Given the description of an element on the screen output the (x, y) to click on. 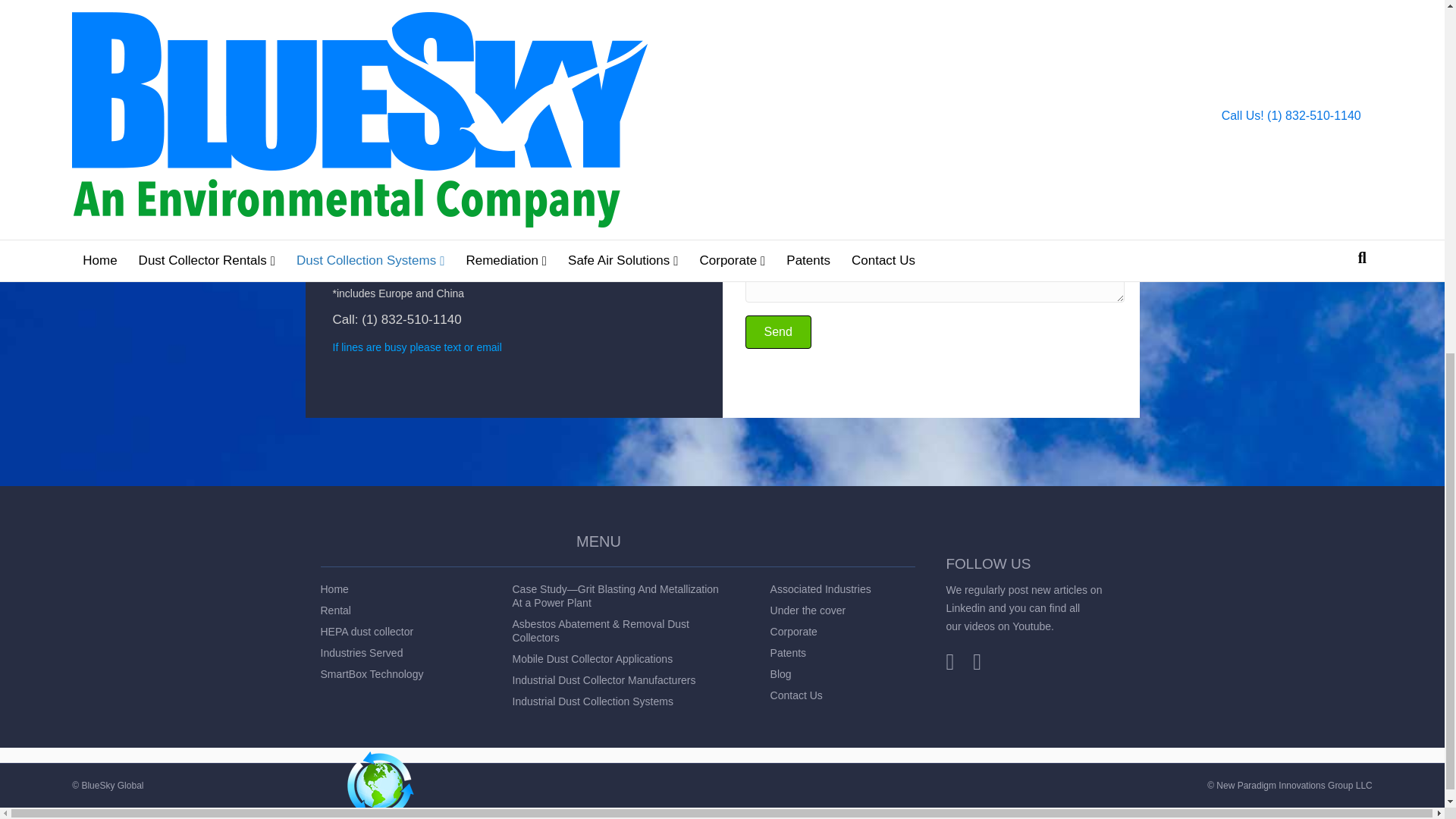
HEPA dust collector (366, 631)
Industries Served (361, 653)
Send (777, 331)
Rental (335, 610)
Home (333, 589)
